Given the description of an element on the screen output the (x, y) to click on. 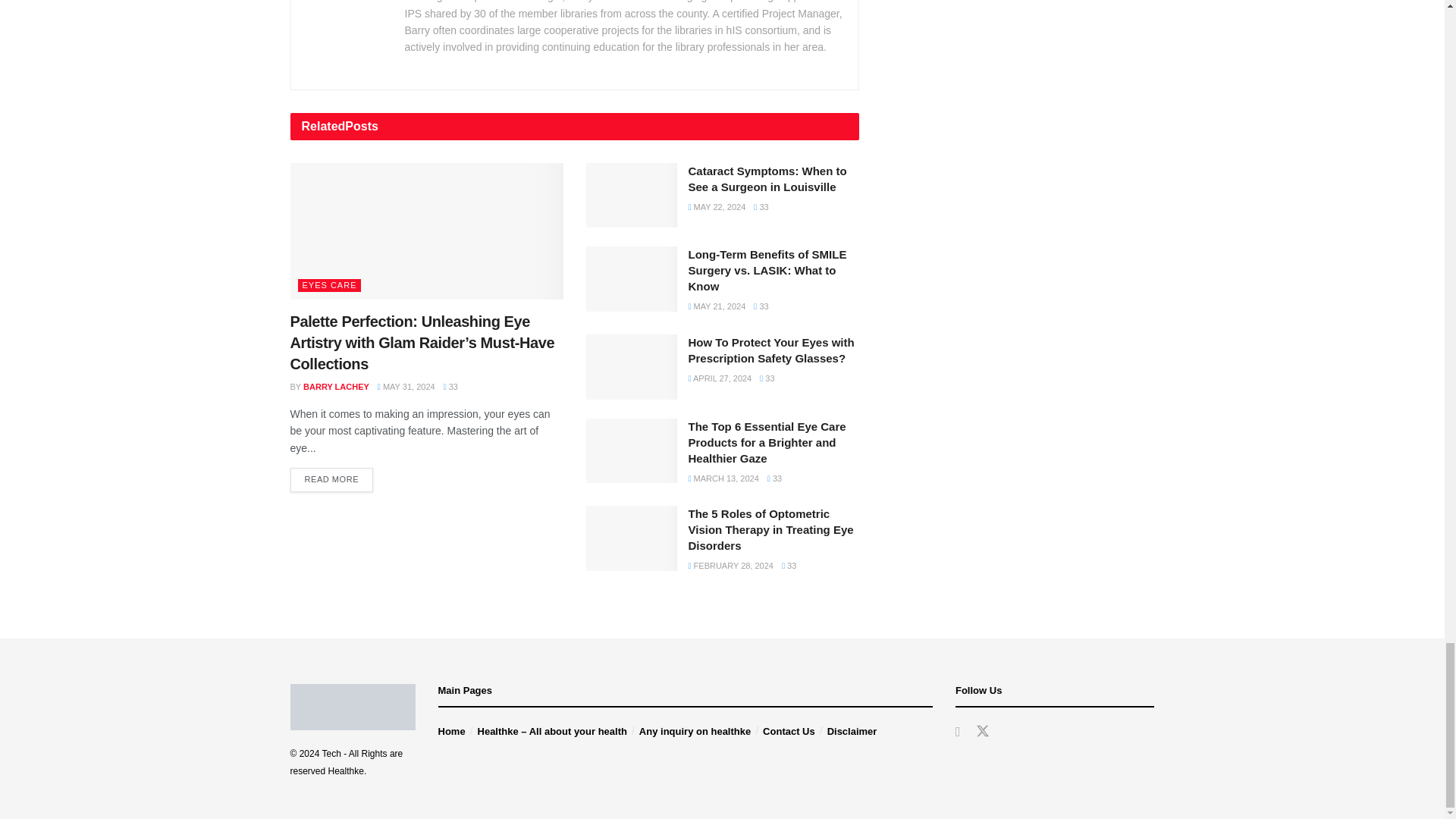
Healthke (346, 770)
Tech (330, 753)
